Given the description of an element on the screen output the (x, y) to click on. 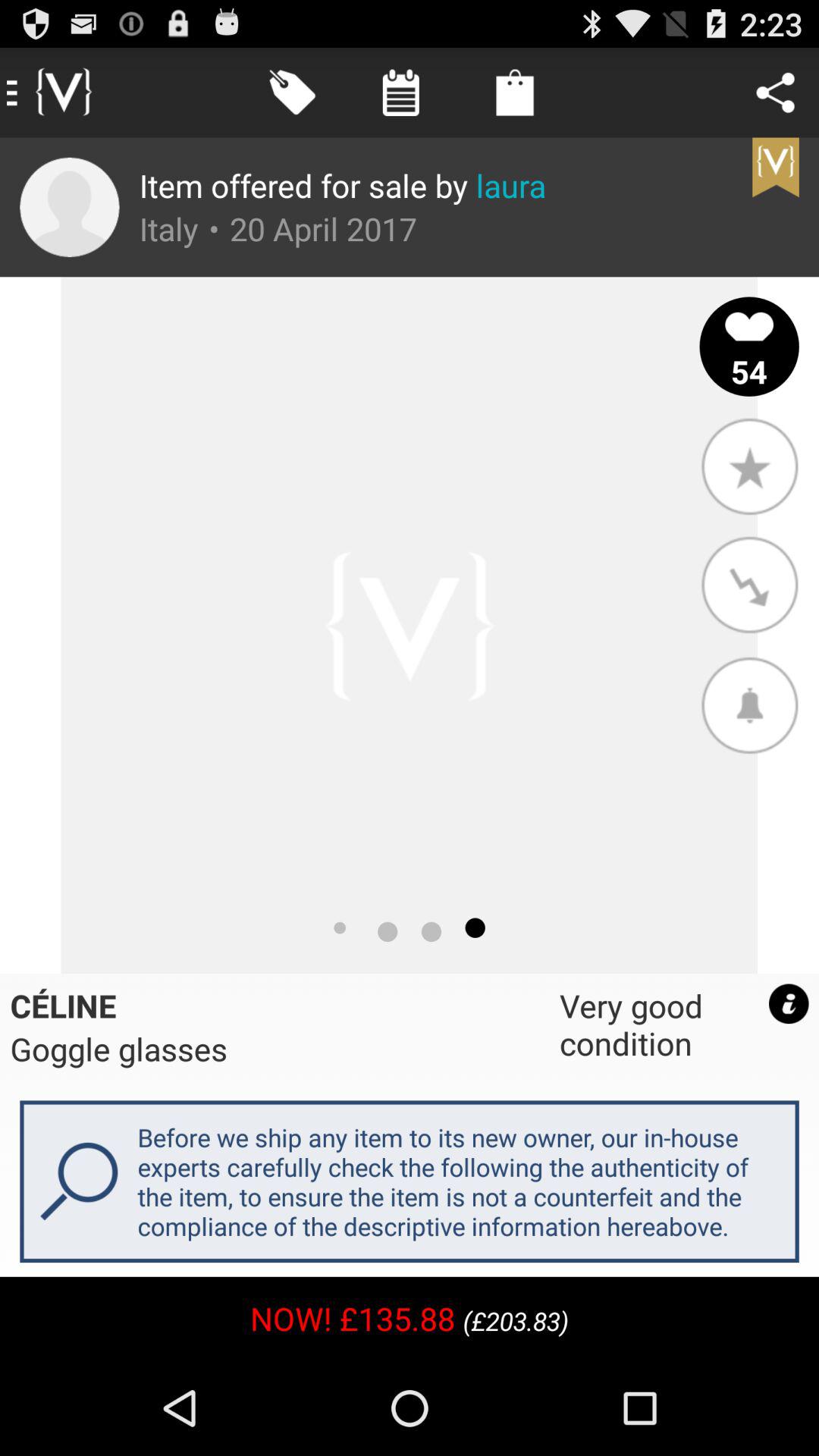
select the app above the very good condition item (749, 704)
